Given the description of an element on the screen output the (x, y) to click on. 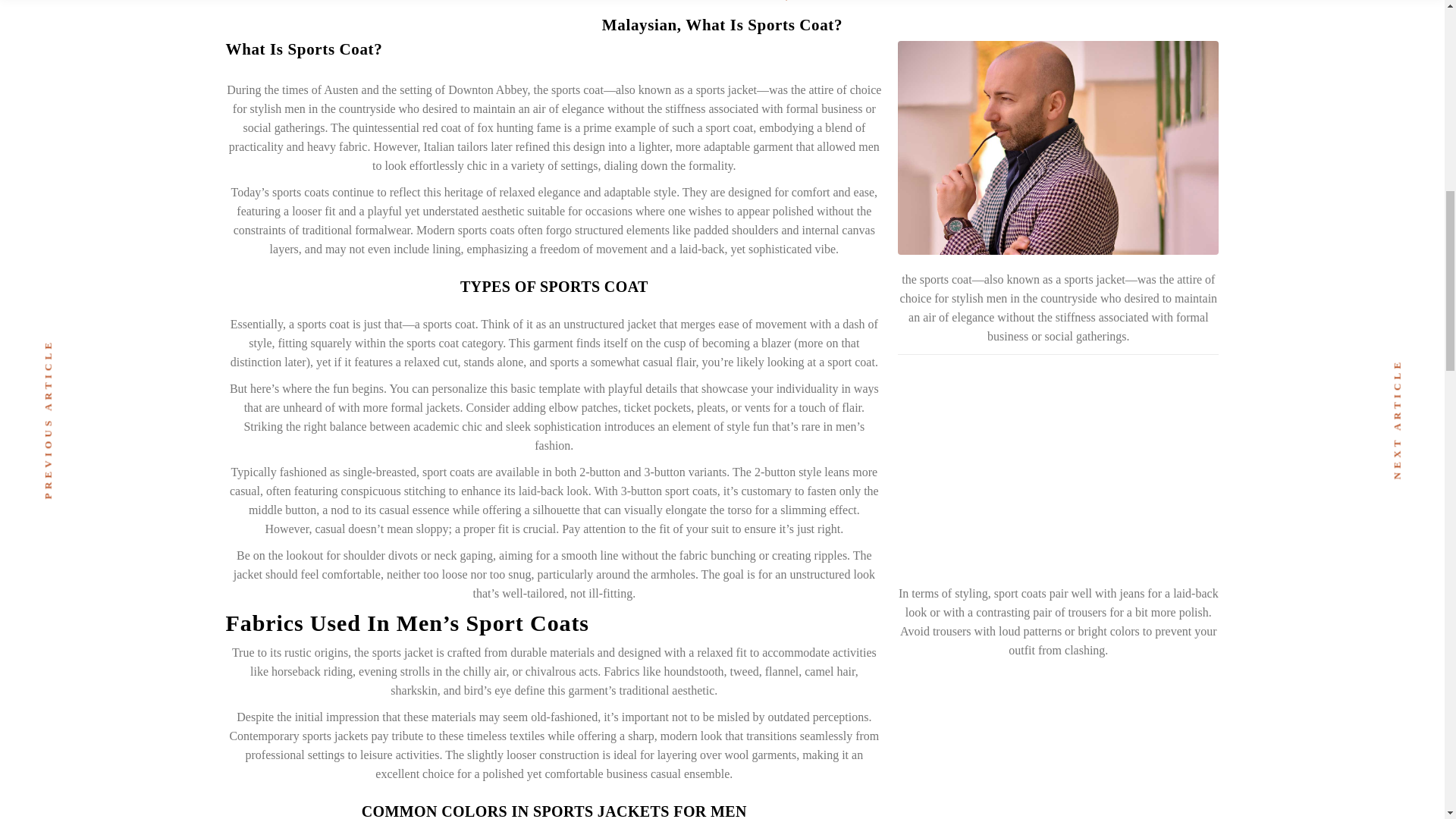
Sport-Coats-Malaysia (1058, 468)
Sports-Jacket-Malaysia (1058, 147)
